Given the description of an element on the screen output the (x, y) to click on. 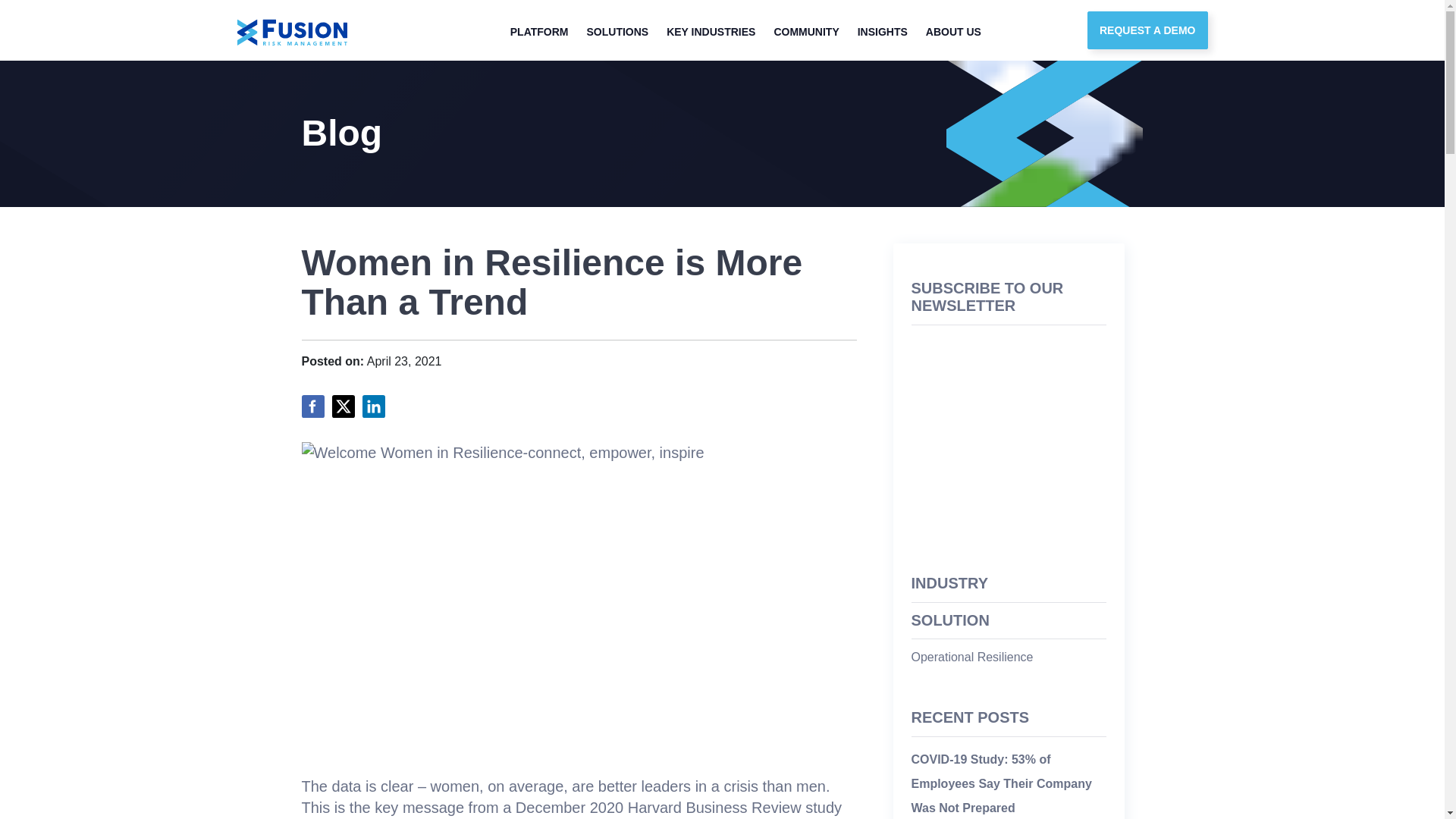
COMMUNITY (805, 30)
ABOUT US (953, 30)
SOLUTIONS (618, 30)
INSIGHTS (882, 30)
Fusion Risk Management (290, 31)
PLATFORM (539, 30)
KEY INDUSTRIES (711, 30)
